Given the description of an element on the screen output the (x, y) to click on. 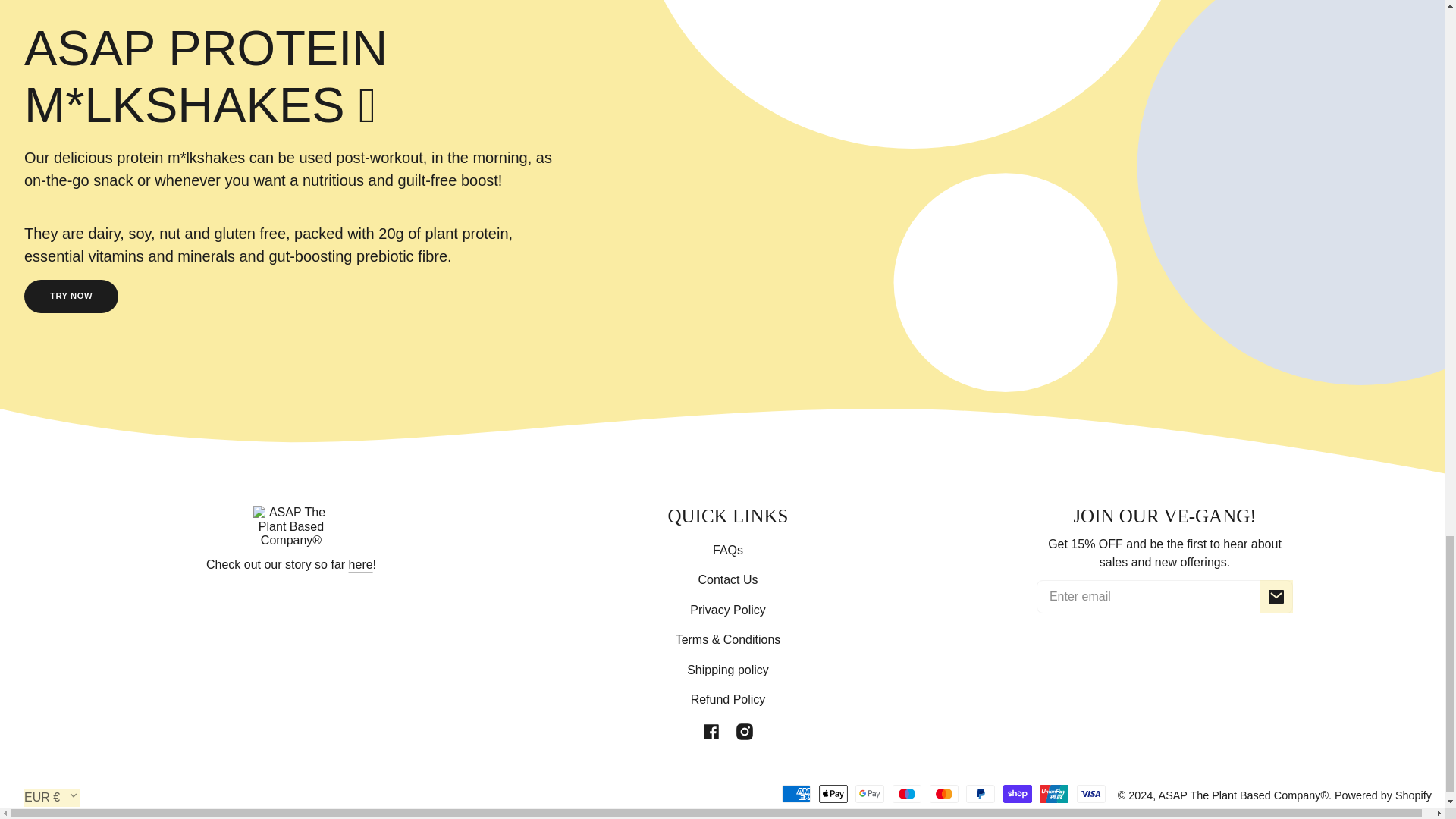
Visa (1091, 793)
Instagram (744, 731)
American Express (795, 793)
Apple Pay (832, 793)
Powered by Shopify (1383, 795)
Our Story (360, 563)
Shop Pay (1017, 793)
Mastercard (944, 793)
Maestro (906, 793)
Contact Us (727, 580)
Facebook (711, 731)
here (360, 563)
FAQs (727, 550)
TRY NOW (70, 296)
Shipping policy (727, 669)
